Given the description of an element on the screen output the (x, y) to click on. 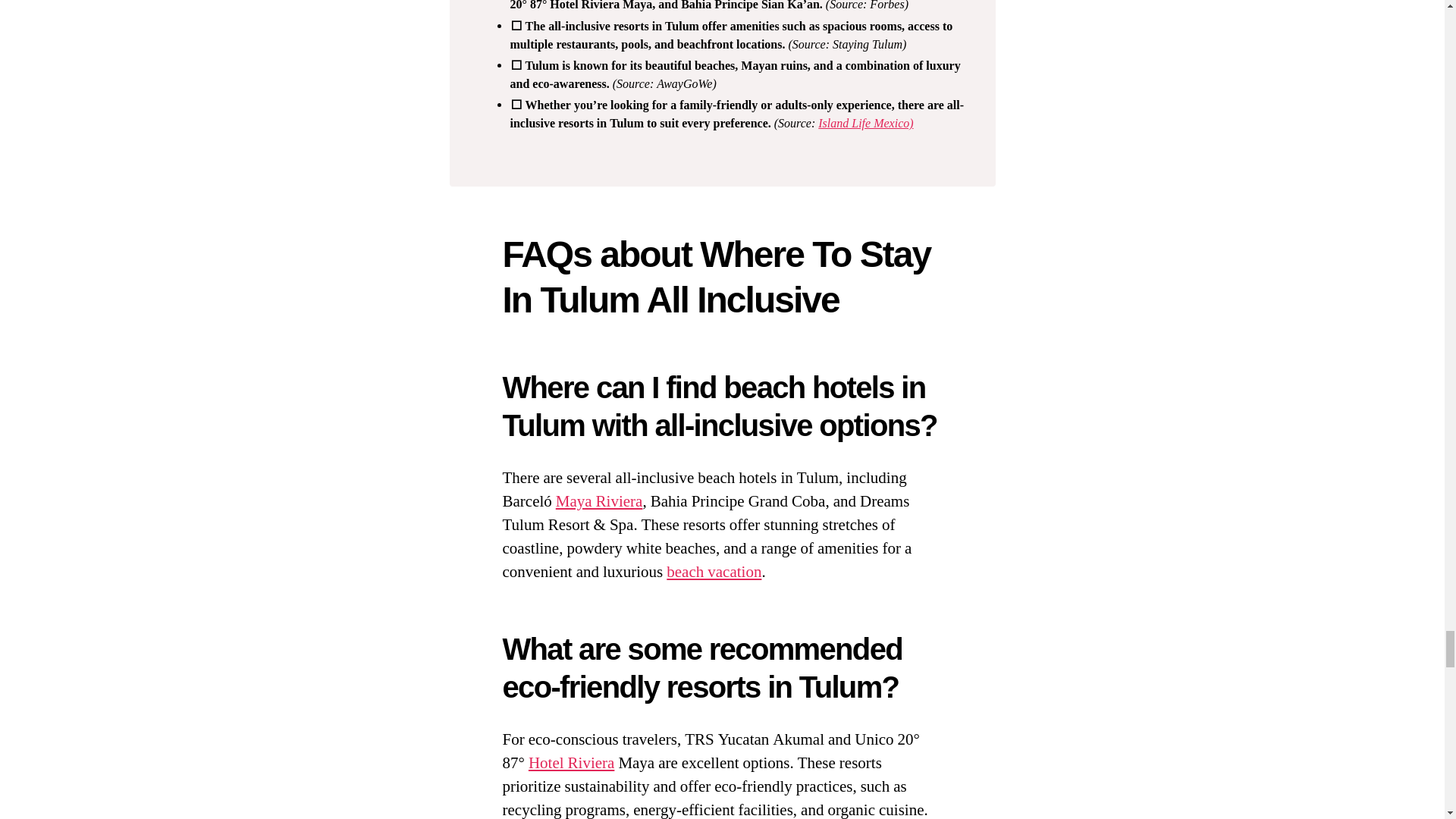
Maya Riviera (599, 501)
beach vacation (713, 571)
Hotel Riviera (571, 762)
